Given the description of an element on the screen output the (x, y) to click on. 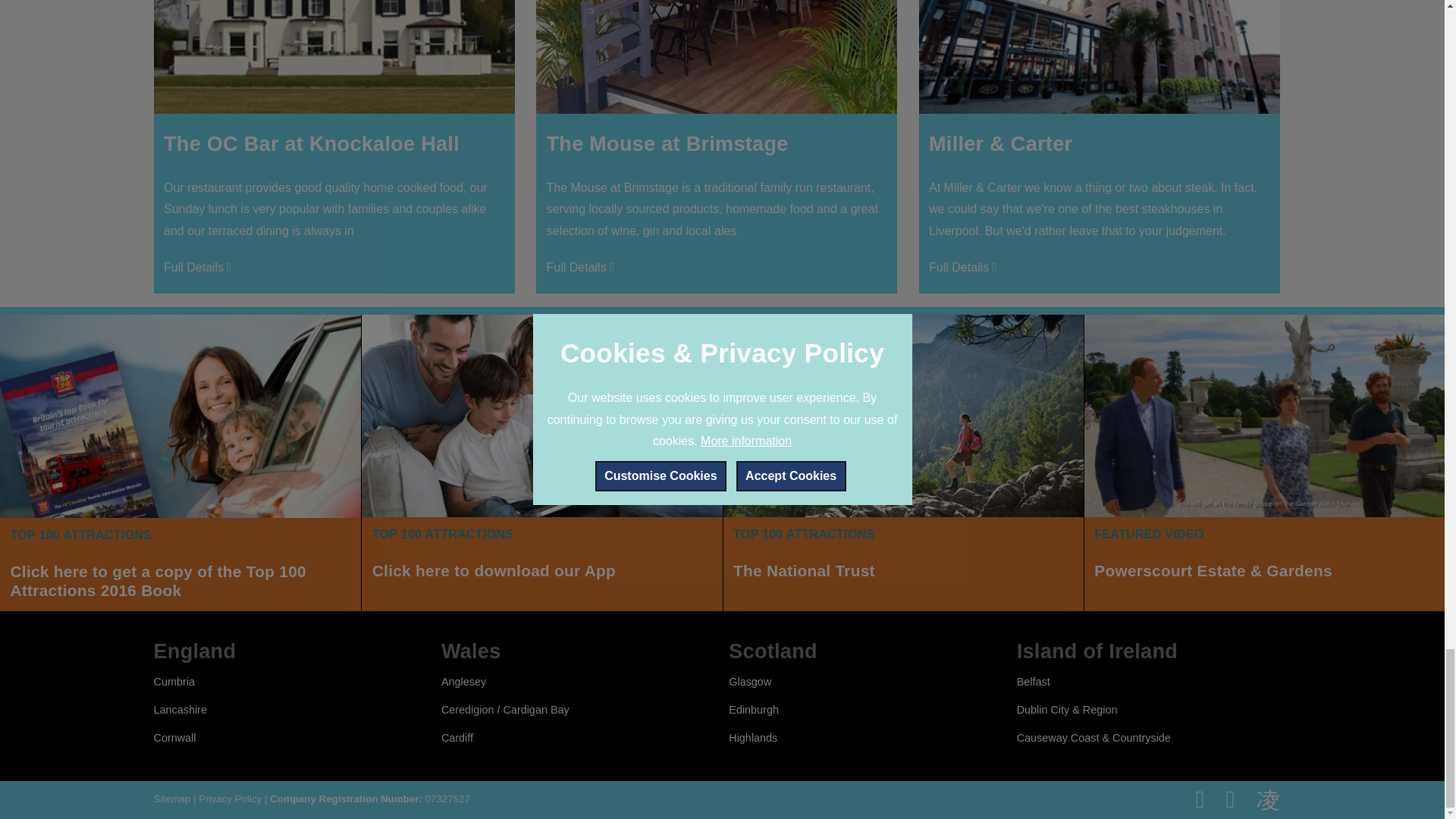
Cumbria (172, 681)
Full Details (964, 267)
Full Details (582, 267)
Full Details (198, 267)
